Given the description of an element on the screen output the (x, y) to click on. 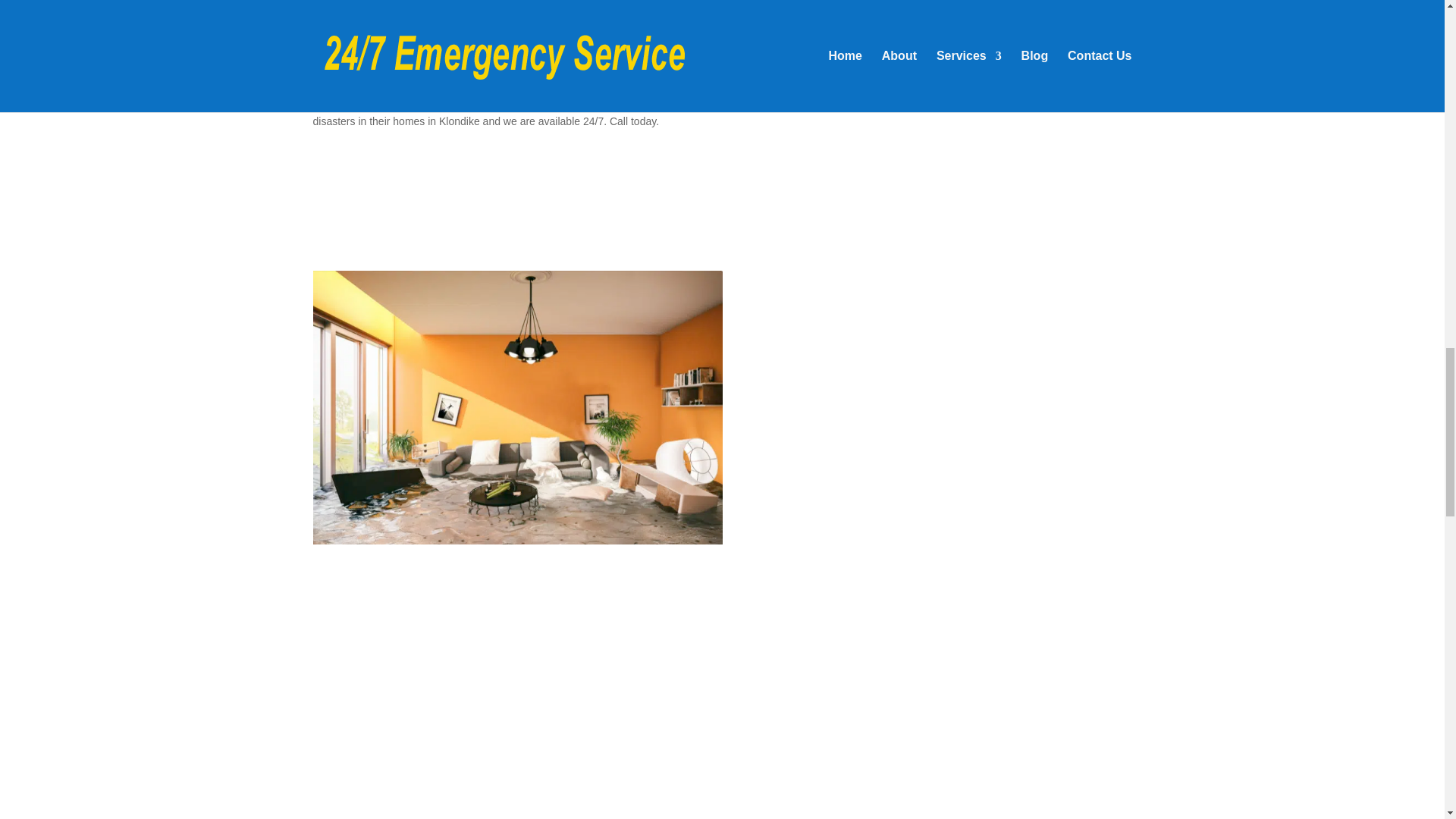
Screen Shot 2021-07-07 at 4.38.07 PM (517, 540)
